Given the description of an element on the screen output the (x, y) to click on. 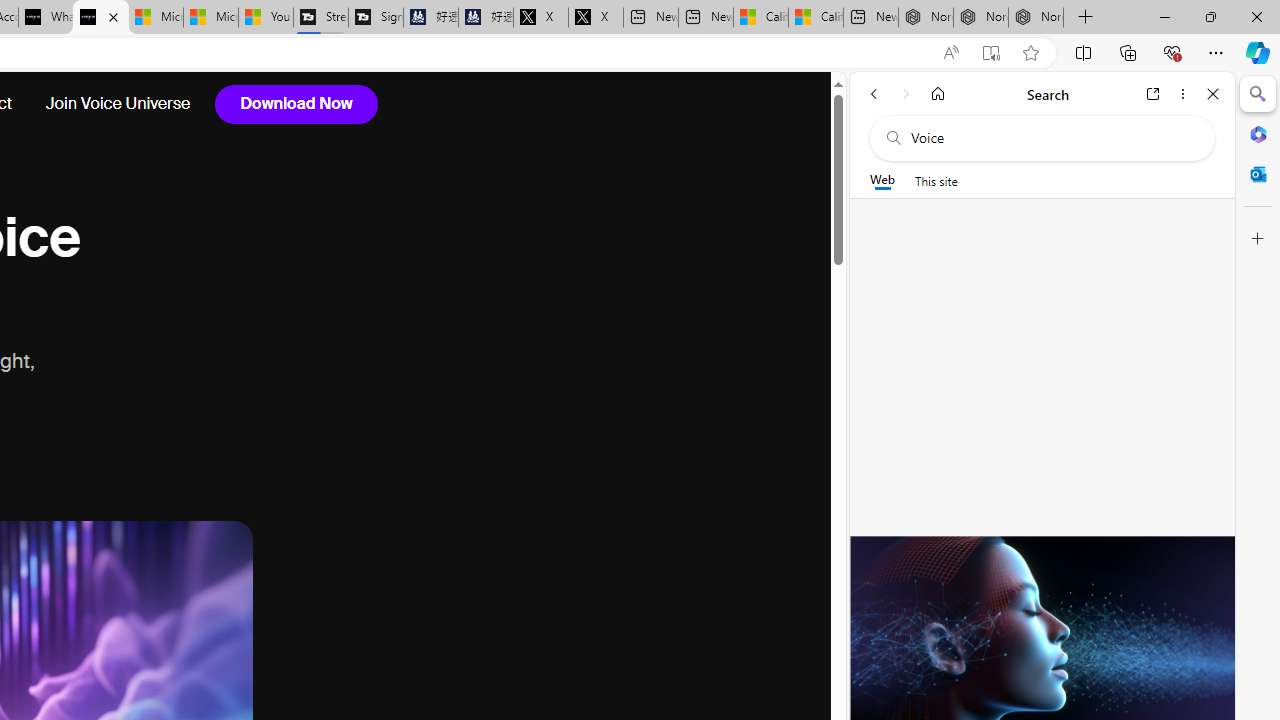
Home (938, 93)
Nordace Siena Pro 15 Backpack (980, 17)
Join Voice Universe (117, 103)
This site scope (936, 180)
More options (1182, 93)
What's the best AI voice generator? - voice.ai (100, 17)
